Given the description of an element on the screen output the (x, y) to click on. 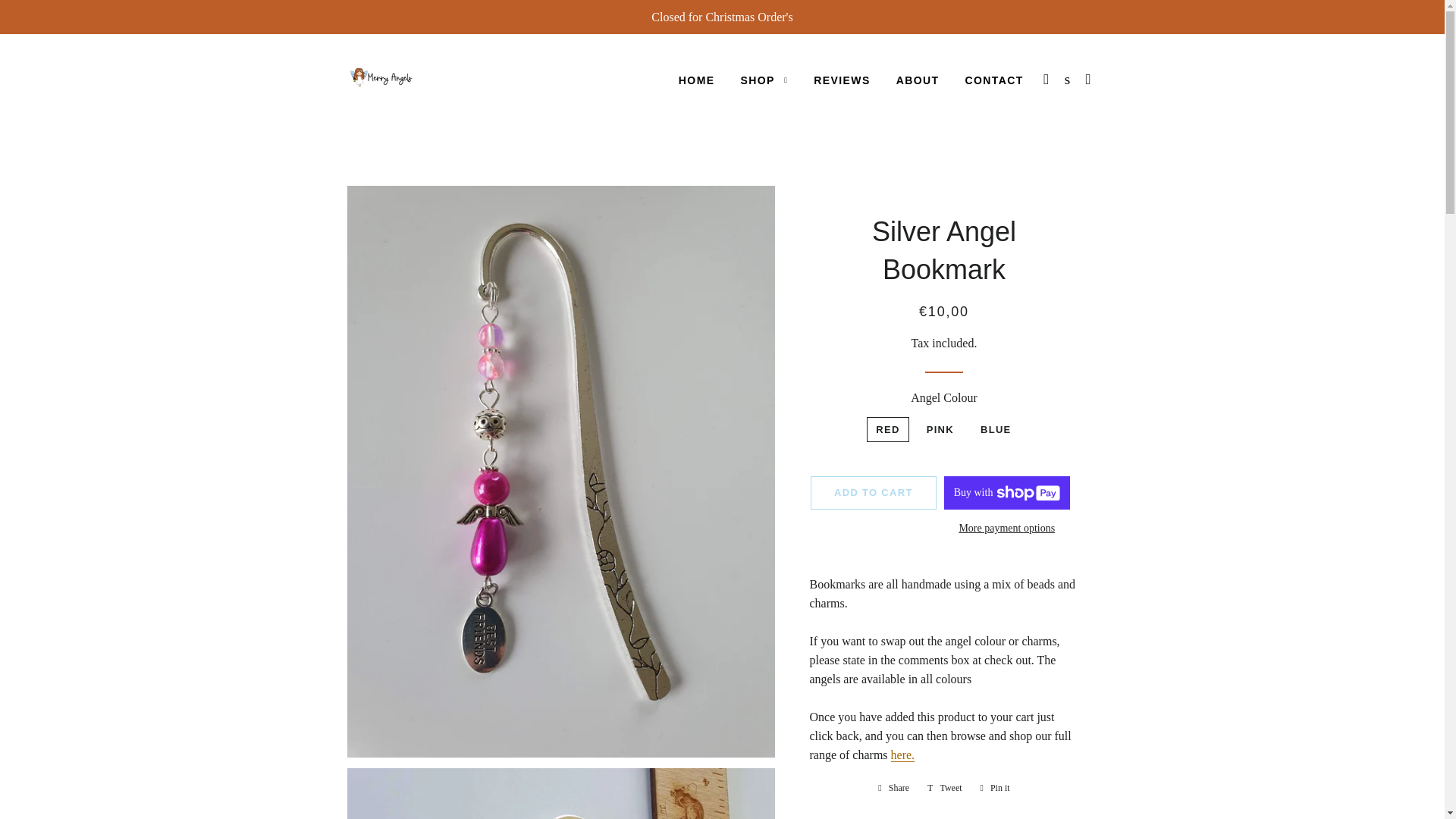
Charms (903, 755)
Pin on Pinterest (994, 787)
Tweet on Twitter (944, 787)
Share on Facebook (893, 787)
